Given the description of an element on the screen output the (x, y) to click on. 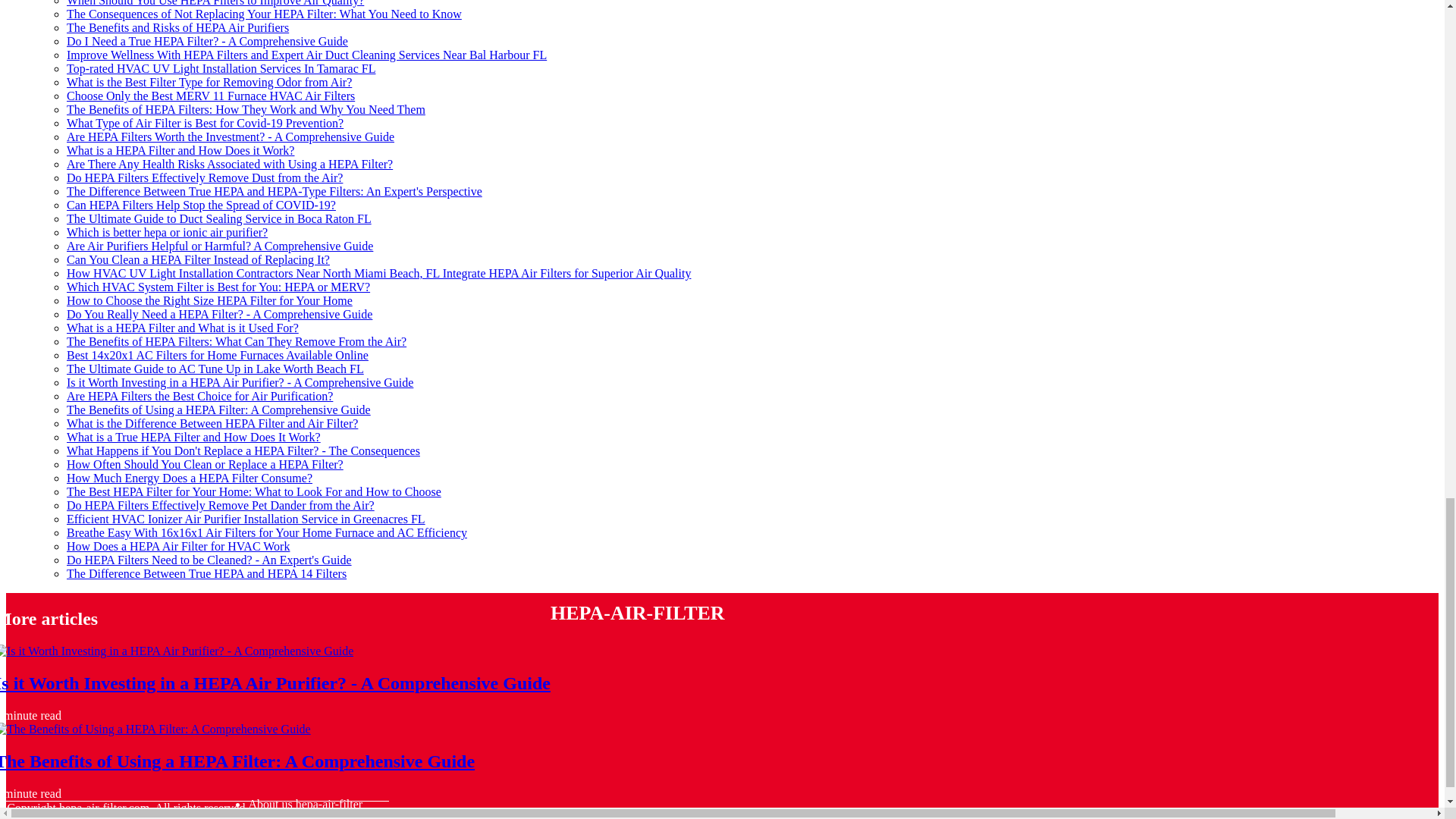
When Should You Use HEPA Filters to Improve Air Quality? (215, 3)
The Benefits and Risks of HEPA Air Purifiers (177, 27)
Do I Need a True HEPA Filter? - A Comprehensive Guide (206, 41)
